Given the description of an element on the screen output the (x, y) to click on. 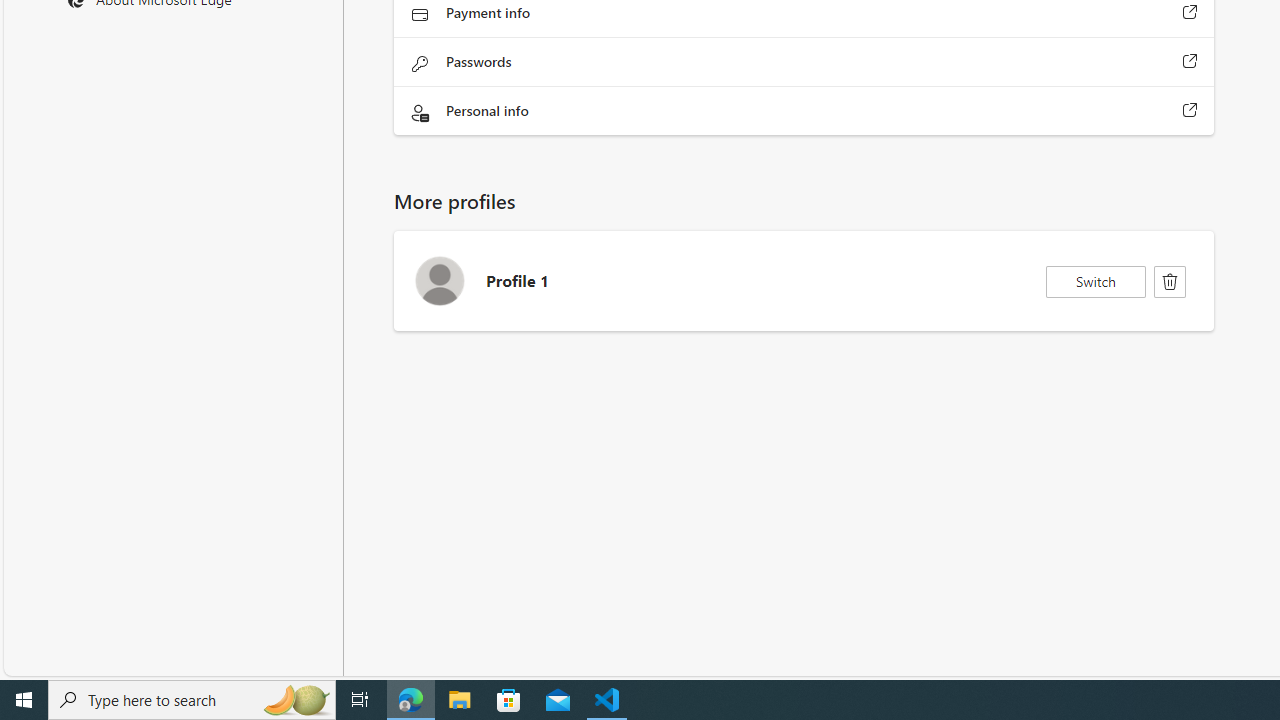
Passwords (1190, 61)
Class: c011143 (1170, 282)
Profile 1 Avatar icon (439, 280)
Delete (1170, 281)
Switch (1095, 281)
Personal info (1190, 110)
Profile 1 (803, 281)
